Given the description of an element on the screen output the (x, y) to click on. 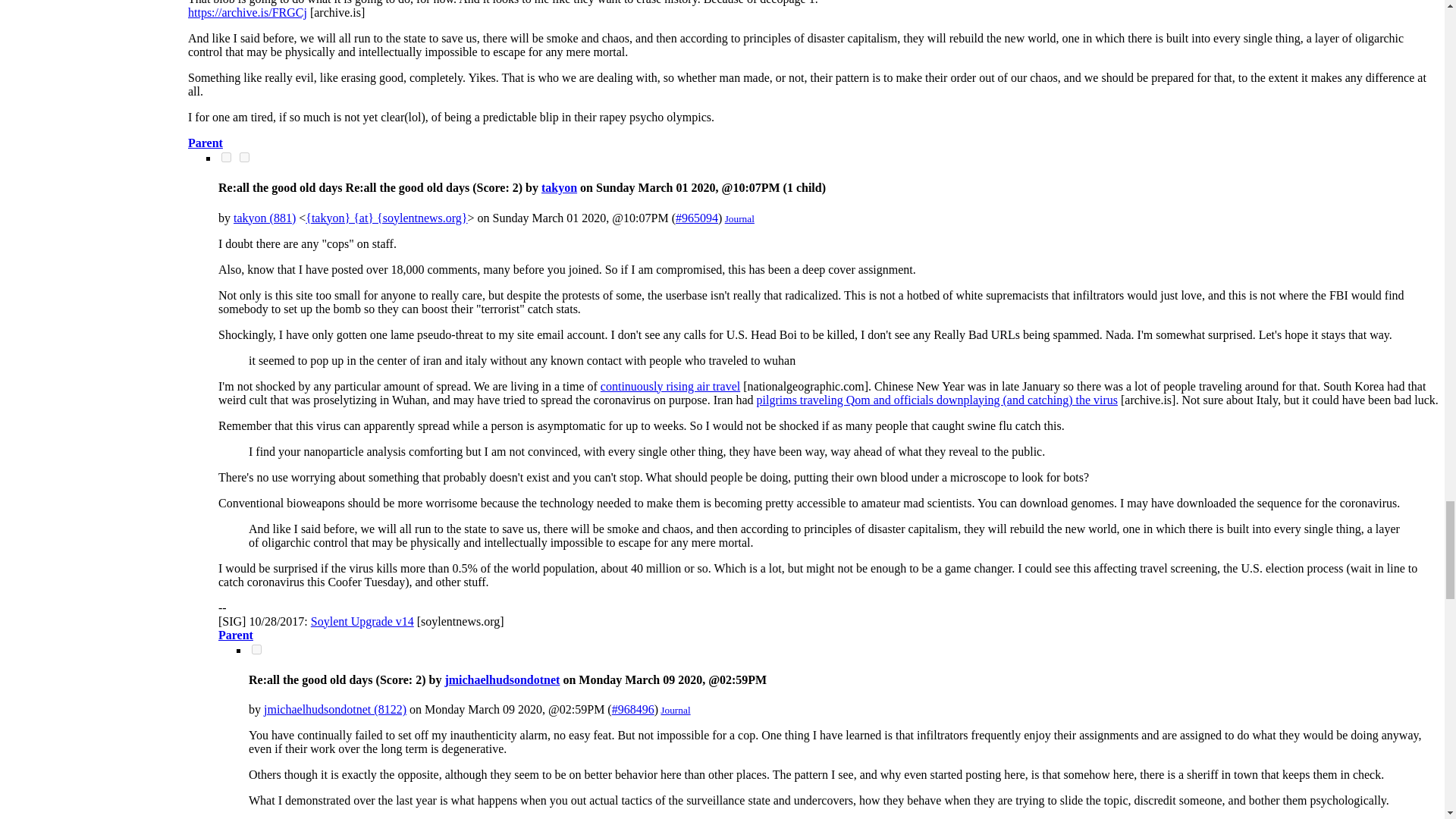
on (256, 649)
on (226, 157)
on (244, 157)
